Given the description of an element on the screen output the (x, y) to click on. 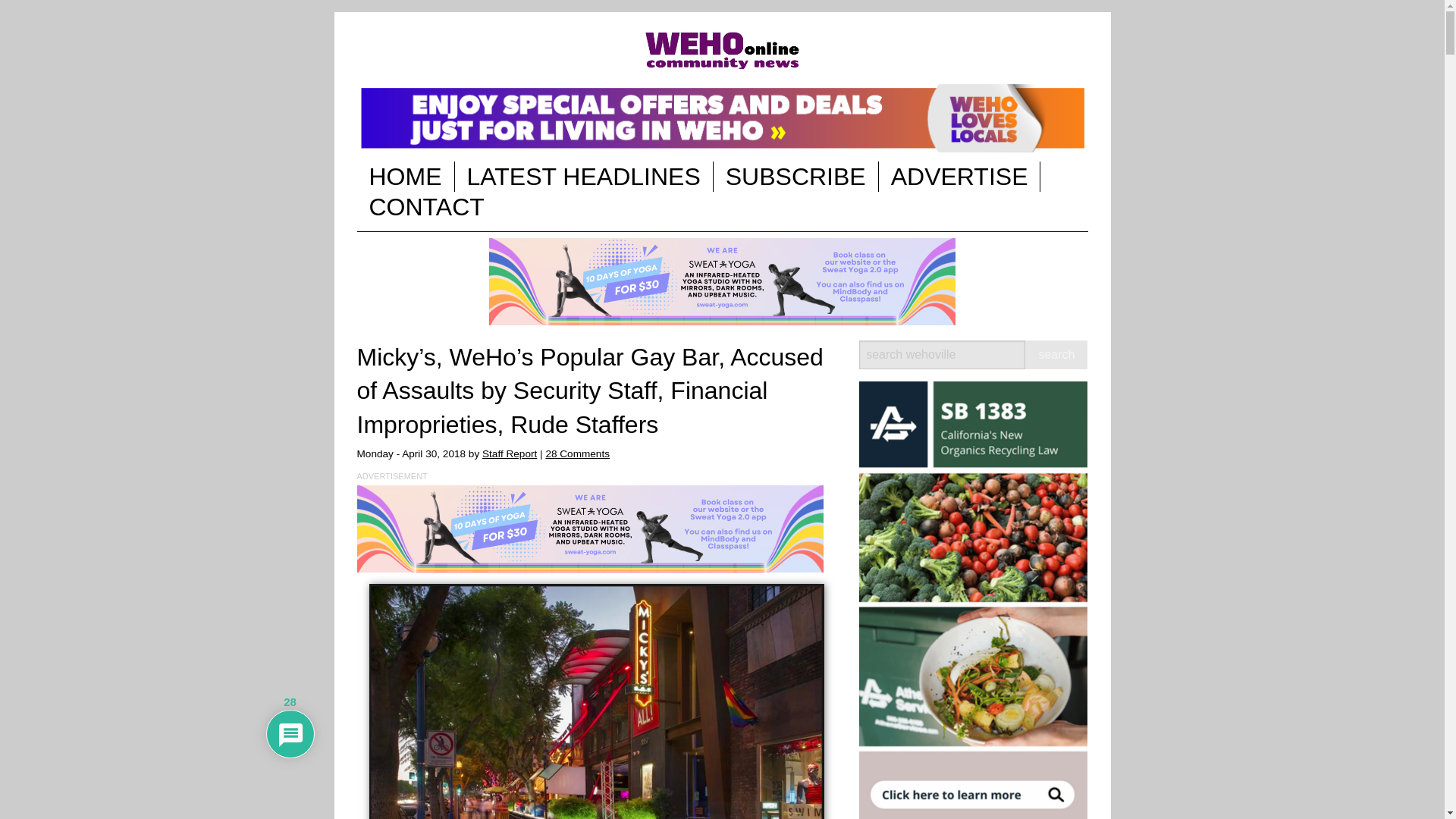
SUBSCRIBE (795, 176)
LATEST HEADLINES (583, 176)
WeHo Loves Locals (721, 118)
HOME (404, 176)
CONTACT (426, 206)
search (1056, 354)
28 Comments (577, 453)
ADVERTISE (960, 176)
Staff Report (509, 453)
